Given the description of an element on the screen output the (x, y) to click on. 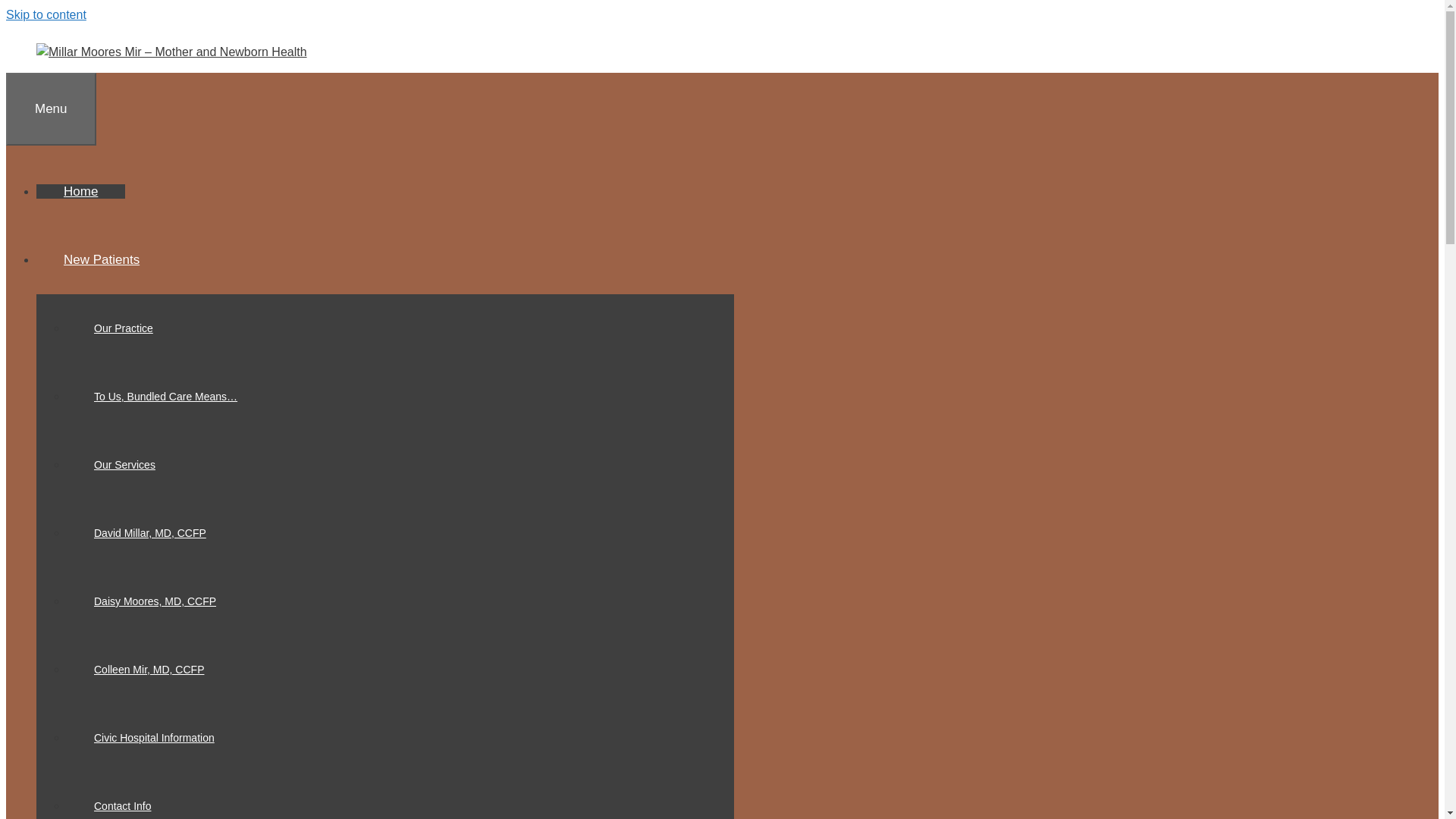
Contact Info (122, 805)
David Millar, MD, CCFP (149, 533)
Our Services (124, 464)
Skip to content (45, 14)
Home (80, 191)
Colleen Mir, MD, CCFP (148, 669)
Menu (50, 108)
New Patients (114, 259)
Skip to content (45, 14)
Civic Hospital Information (153, 737)
